Given the description of an element on the screen output the (x, y) to click on. 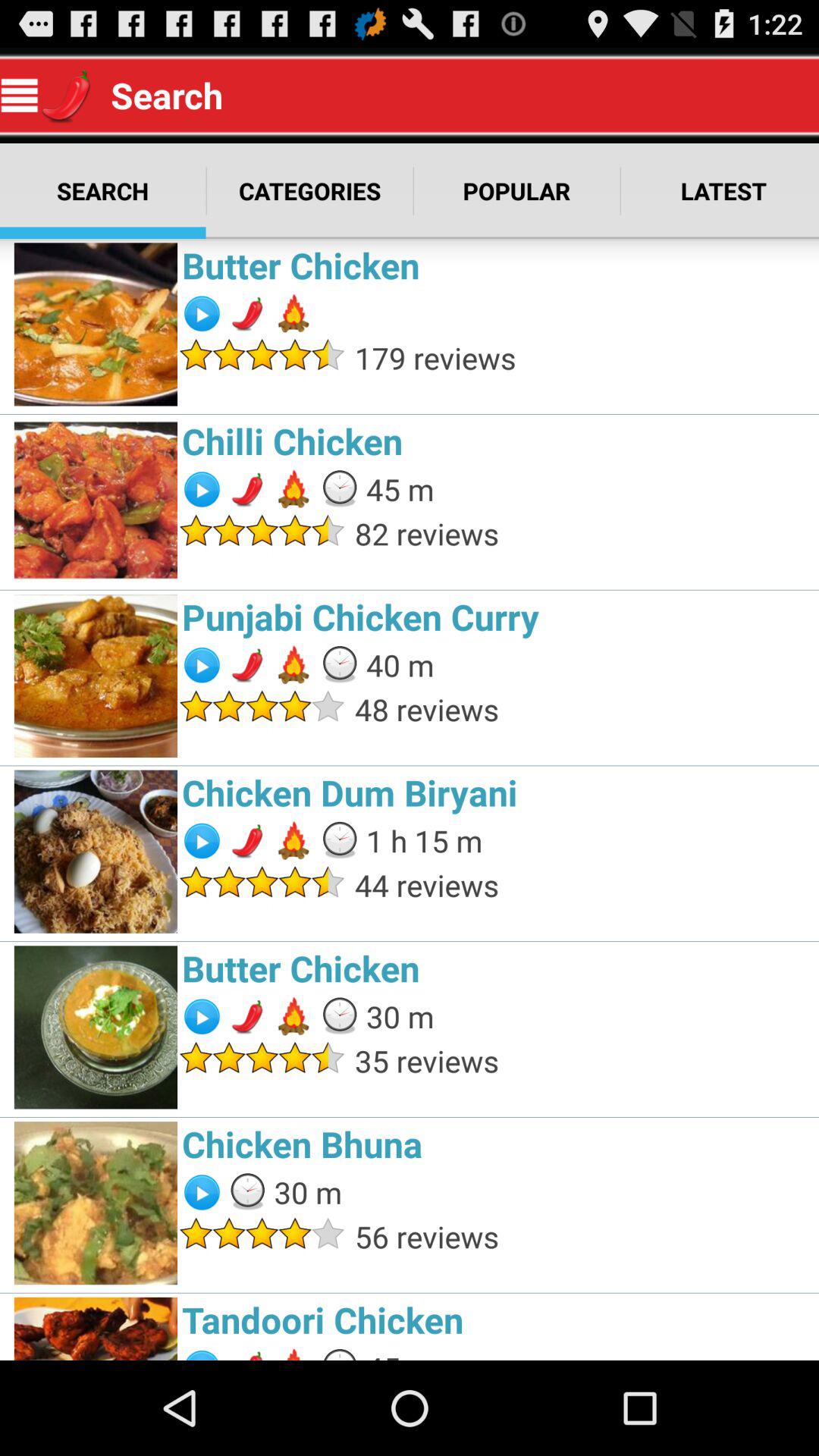
turn off punjabi chicken curry item (496, 616)
